Given the description of an element on the screen output the (x, y) to click on. 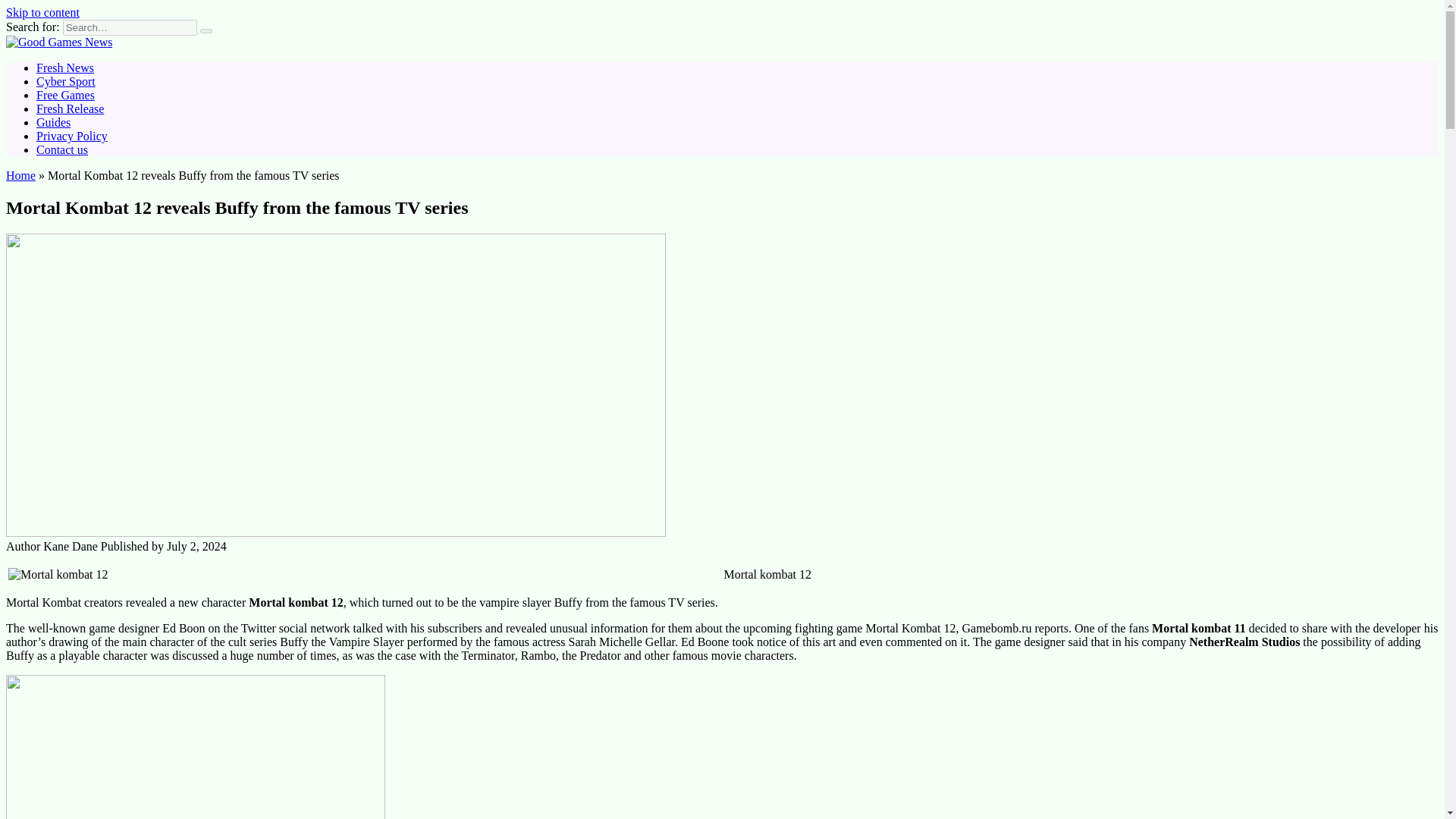
Skip to content (42, 11)
Fresh Release (69, 108)
Privacy Policy (71, 135)
Home (19, 174)
Contact us (61, 149)
Free Games (65, 94)
Guides (52, 122)
Fresh News (65, 67)
Cyber Sport (66, 81)
